Given the description of an element on the screen output the (x, y) to click on. 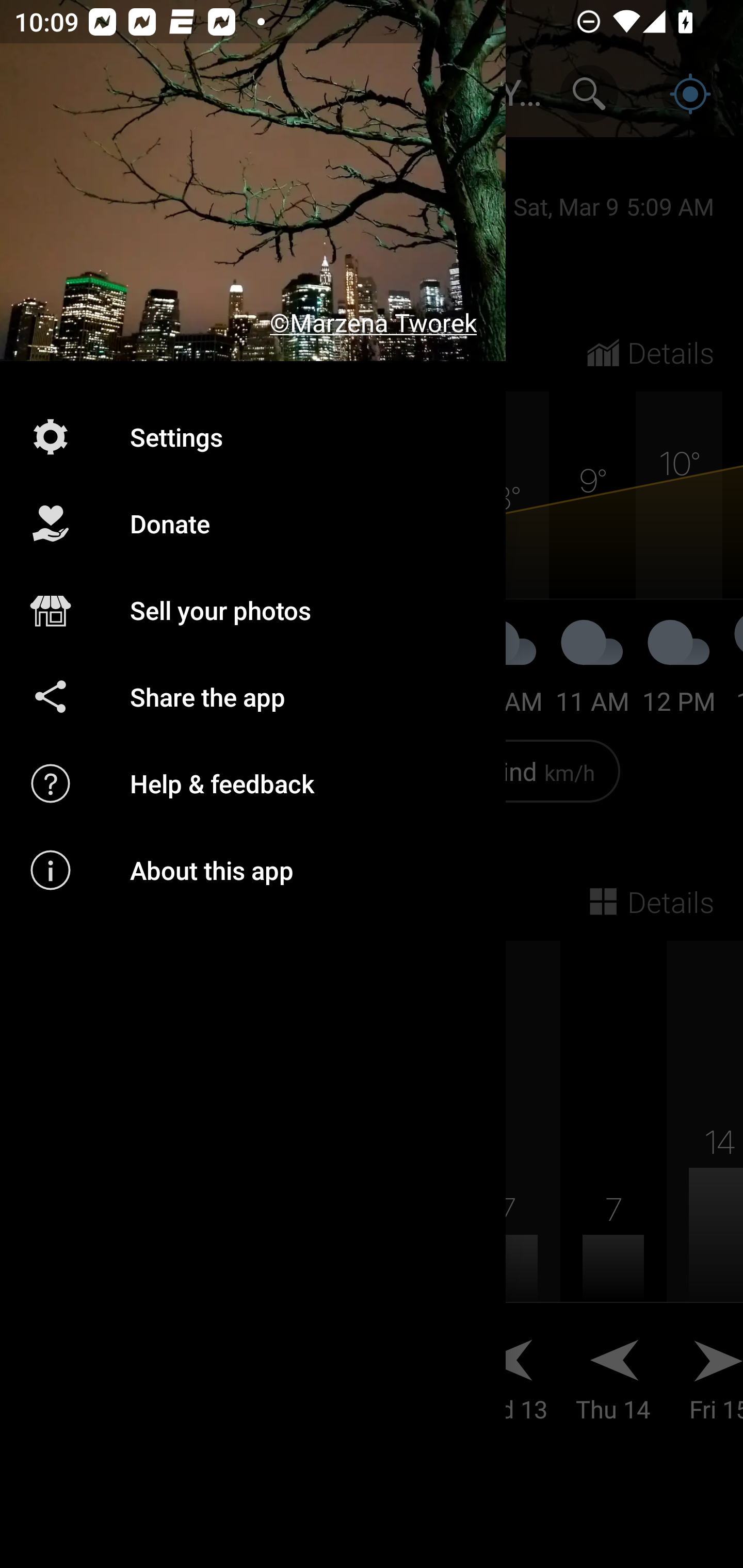
©Marzena Tworek (252, 180)
Settings (252, 436)
Donate (252, 523)
Sell your photos (252, 610)
Share the app (252, 696)
Help & feedback (252, 783)
About this app (252, 870)
